Given the description of an element on the screen output the (x, y) to click on. 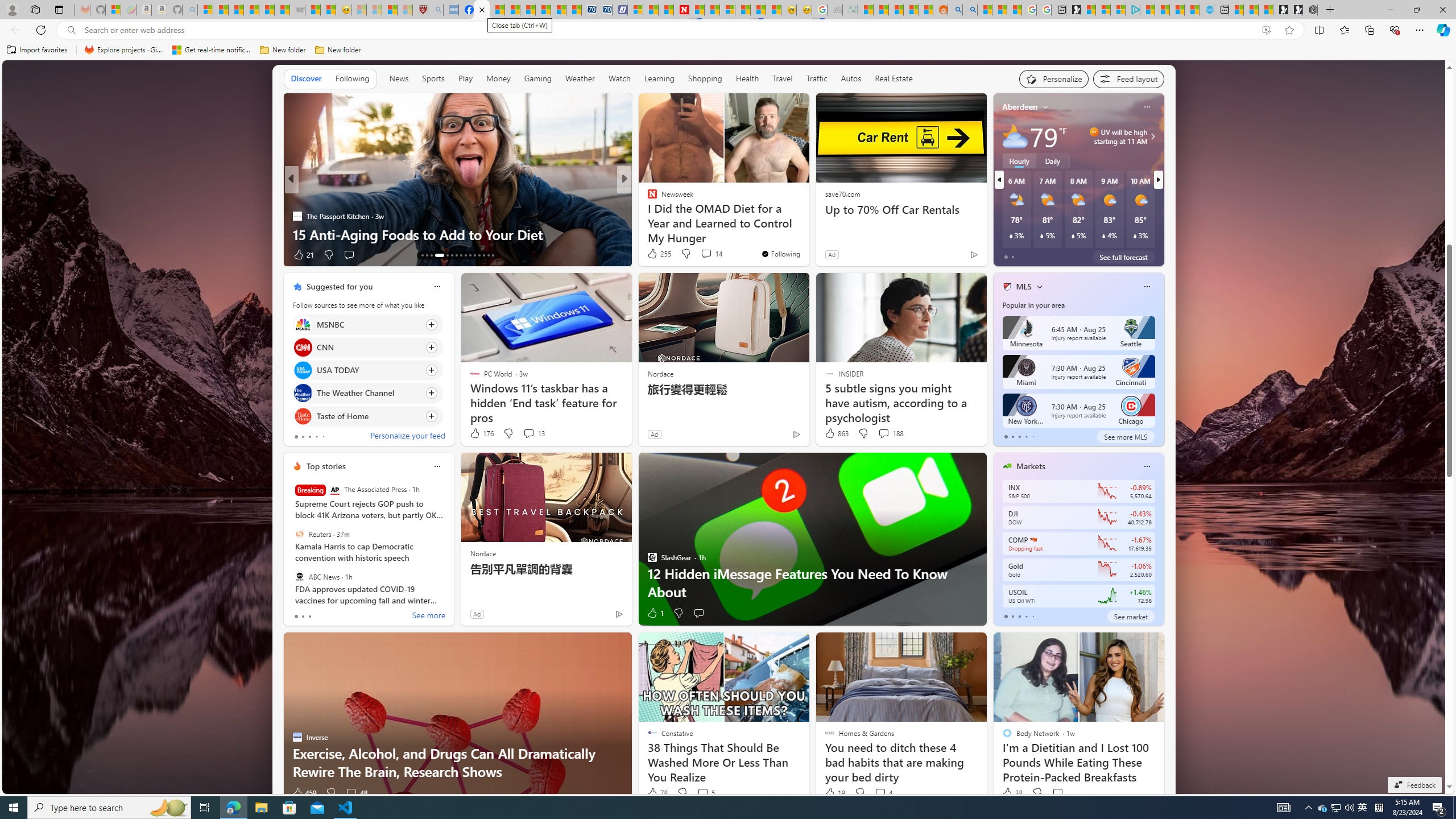
tab-4 (1032, 616)
View comments 228 Comment (698, 254)
Suggested for you (338, 286)
2k Like (652, 254)
New folder (337, 49)
tab-0 (1005, 616)
AutomationID: tab-91 (488, 255)
